Given the description of an element on the screen output the (x, y) to click on. 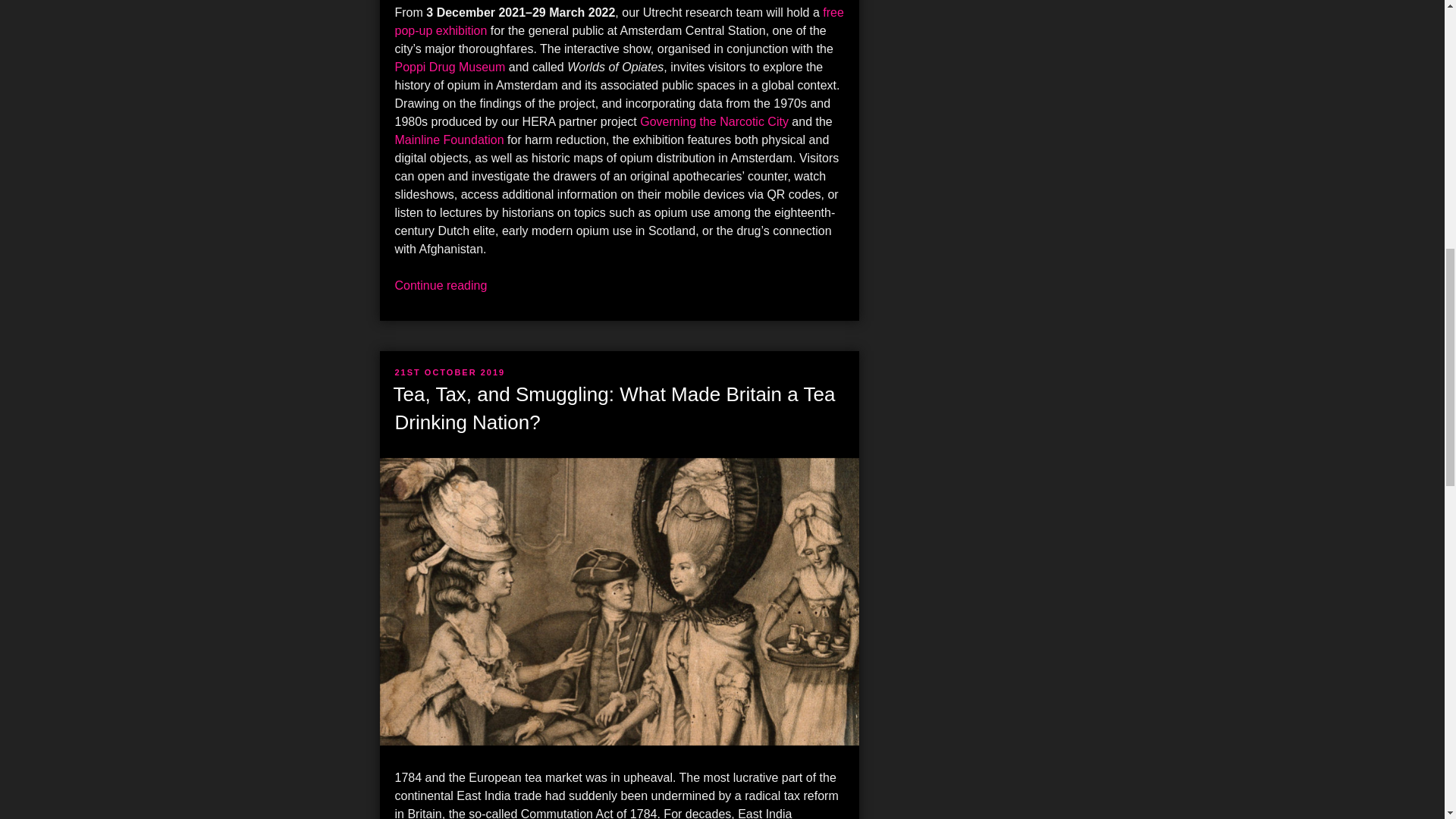
Governing the Narcotic City (714, 121)
Mainline Foundation (448, 139)
21ST OCTOBER 2019 (449, 371)
free pop-up exhibition (618, 20)
Poppi Drug Museum (449, 66)
